Given the description of an element on the screen output the (x, y) to click on. 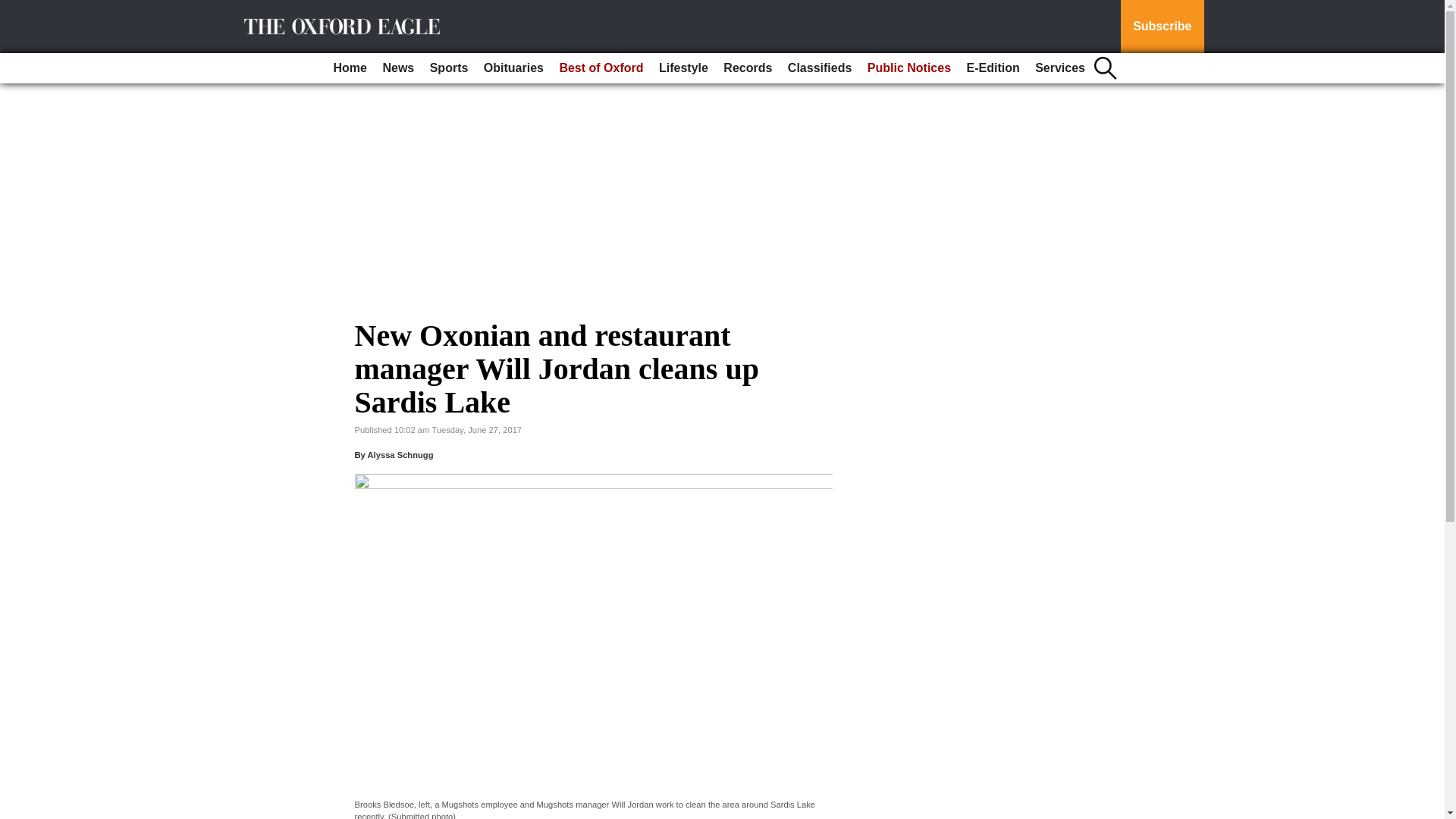
Alyssa Schnugg (399, 454)
Subscribe (1162, 26)
Public Notices (908, 68)
Sports (448, 68)
Services (1059, 68)
Go (13, 9)
E-Edition (992, 68)
Records (747, 68)
Classifieds (819, 68)
Best of Oxford (601, 68)
